Given the description of an element on the screen output the (x, y) to click on. 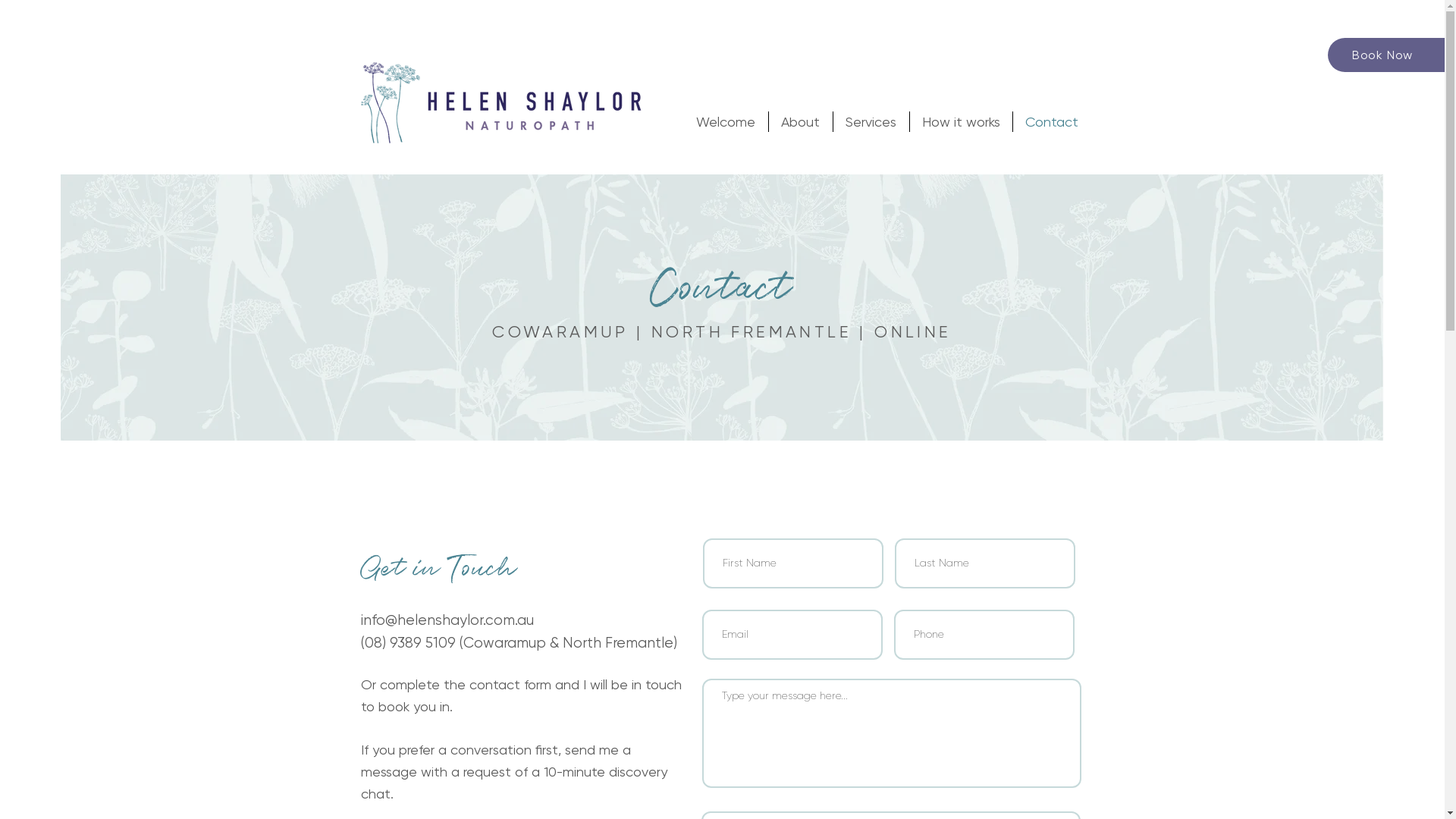
info@helenshaylor.com.au Element type: text (446, 619)
Welcome Element type: text (726, 121)
About Element type: text (800, 121)
Book Now Element type: text (1385, 54)
How it works Element type: text (961, 121)
Contact Element type: text (1051, 121)
